Given the description of an element on the screen output the (x, y) to click on. 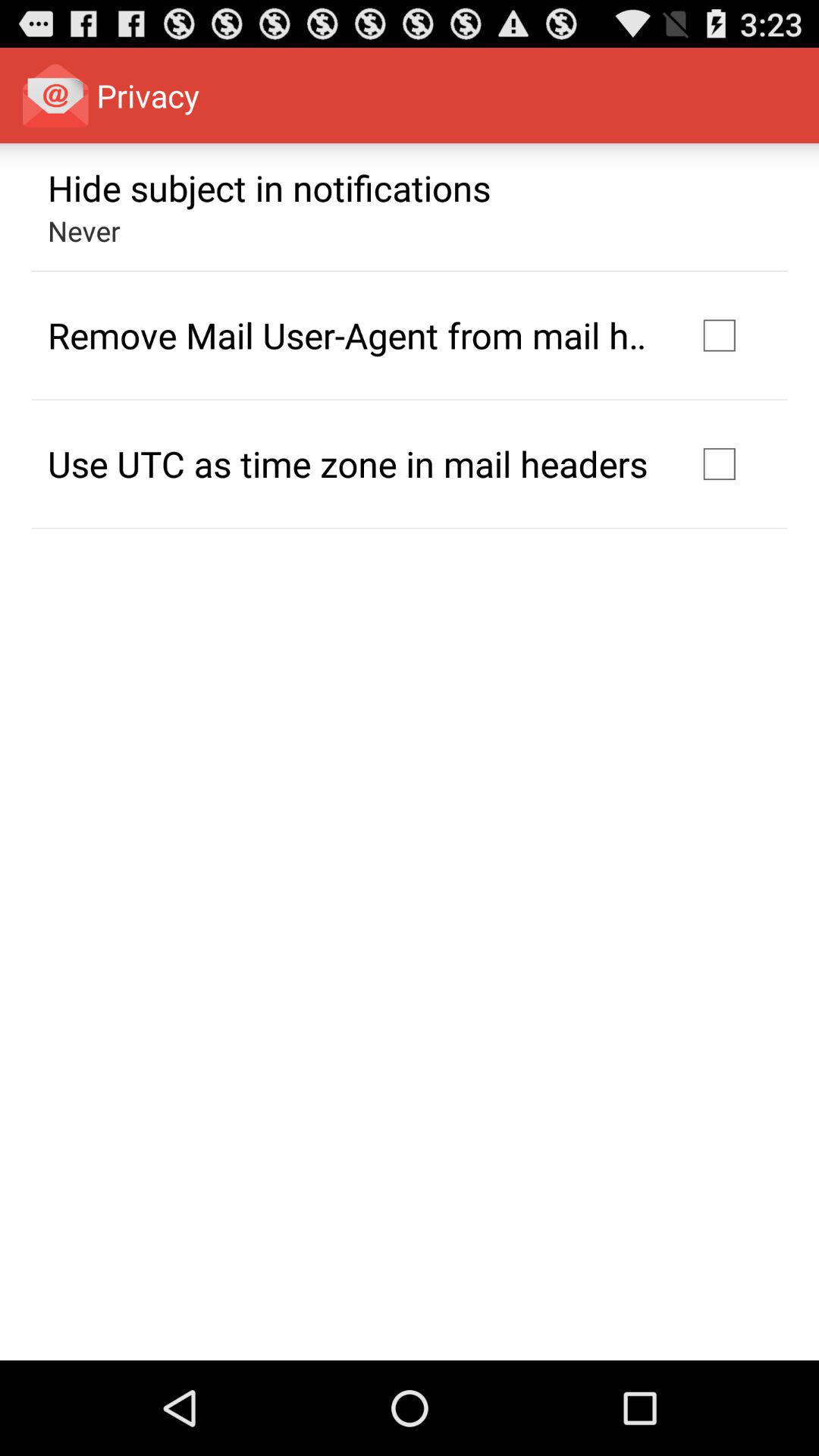
jump to use utc as icon (347, 463)
